Given the description of an element on the screen output the (x, y) to click on. 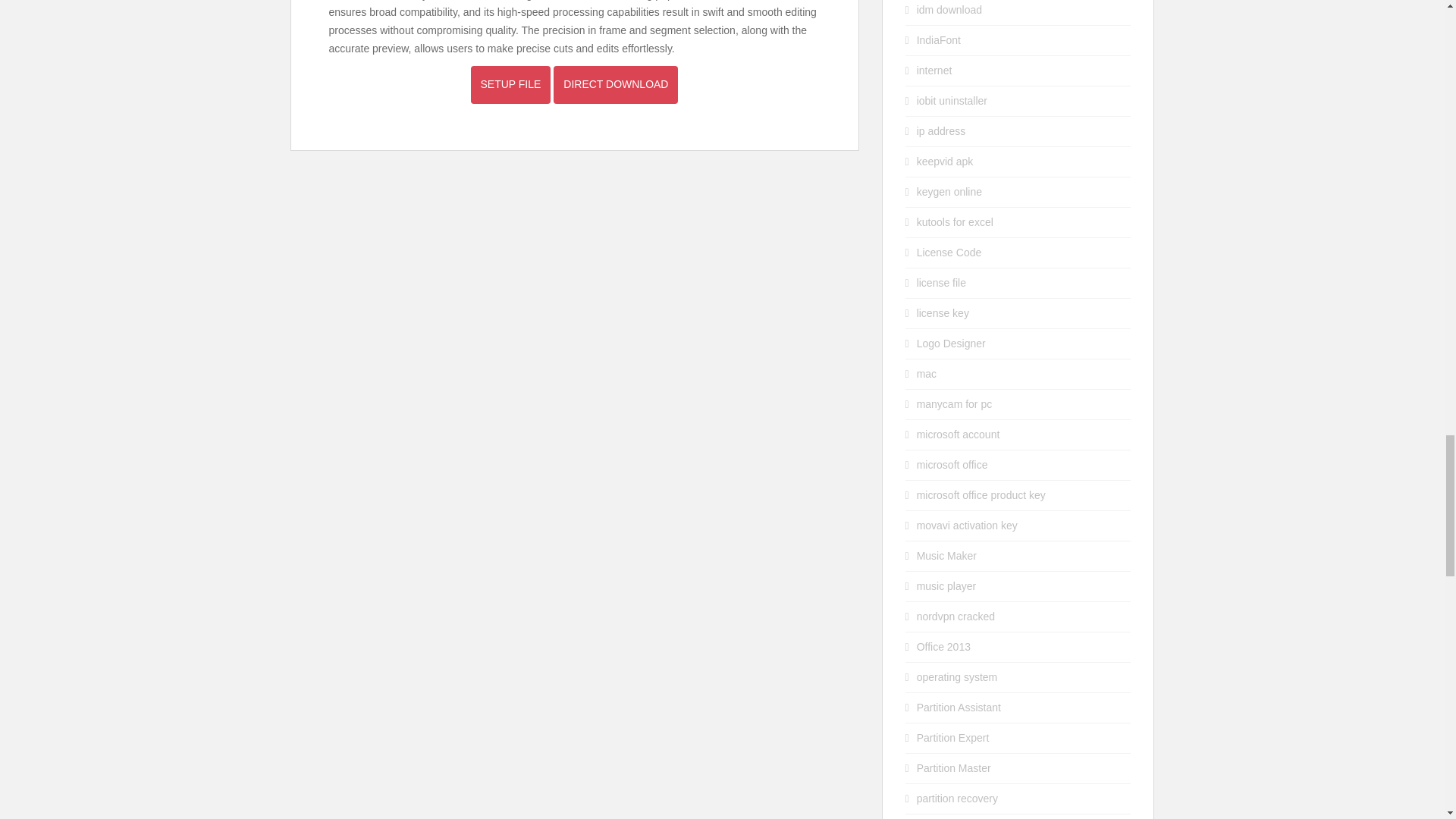
SETUP FILE DIRECT DOWNLOAD (574, 83)
SETUP FILE (510, 85)
DIRECT DOWNLOAD (615, 85)
